Given the description of an element on the screen output the (x, y) to click on. 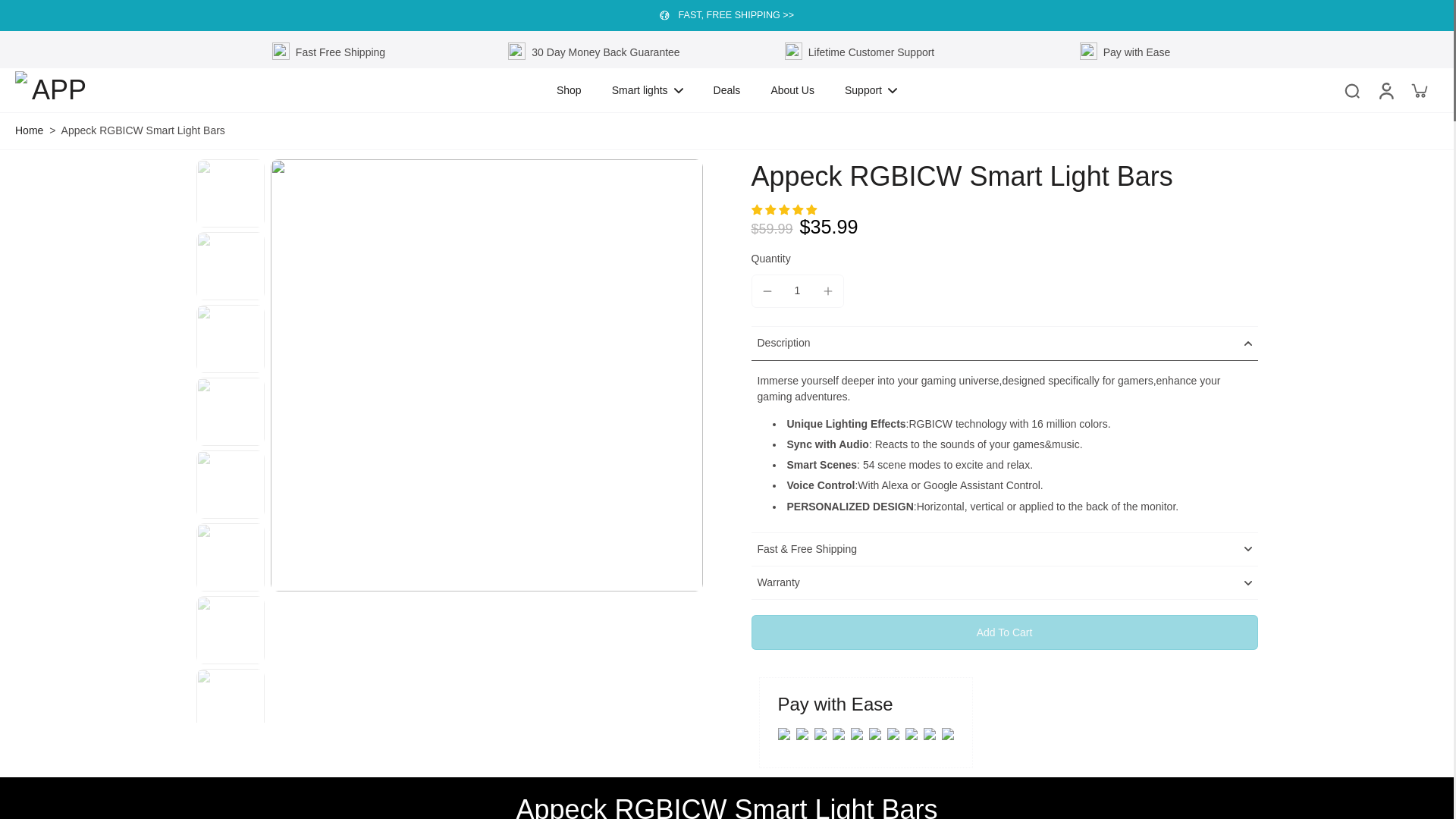
Skip to content (19, 10)
Home (28, 130)
Smart lights (646, 90)
Support (870, 90)
Deals (727, 90)
1 (797, 290)
About Us (791, 90)
Shop (568, 90)
